Given the description of an element on the screen output the (x, y) to click on. 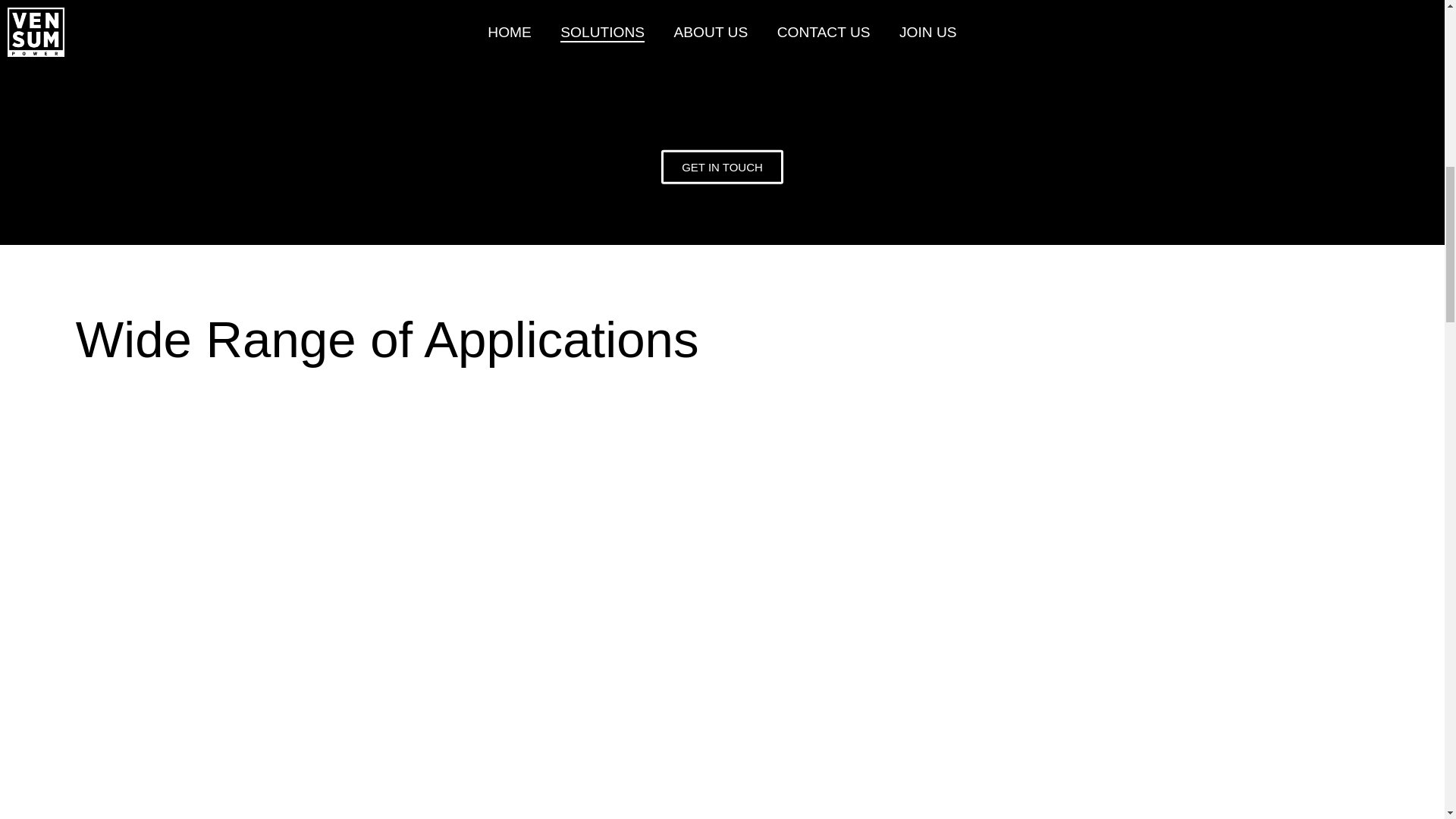
GET IN TOUCH (722, 166)
